Given the description of an element on the screen output the (x, y) to click on. 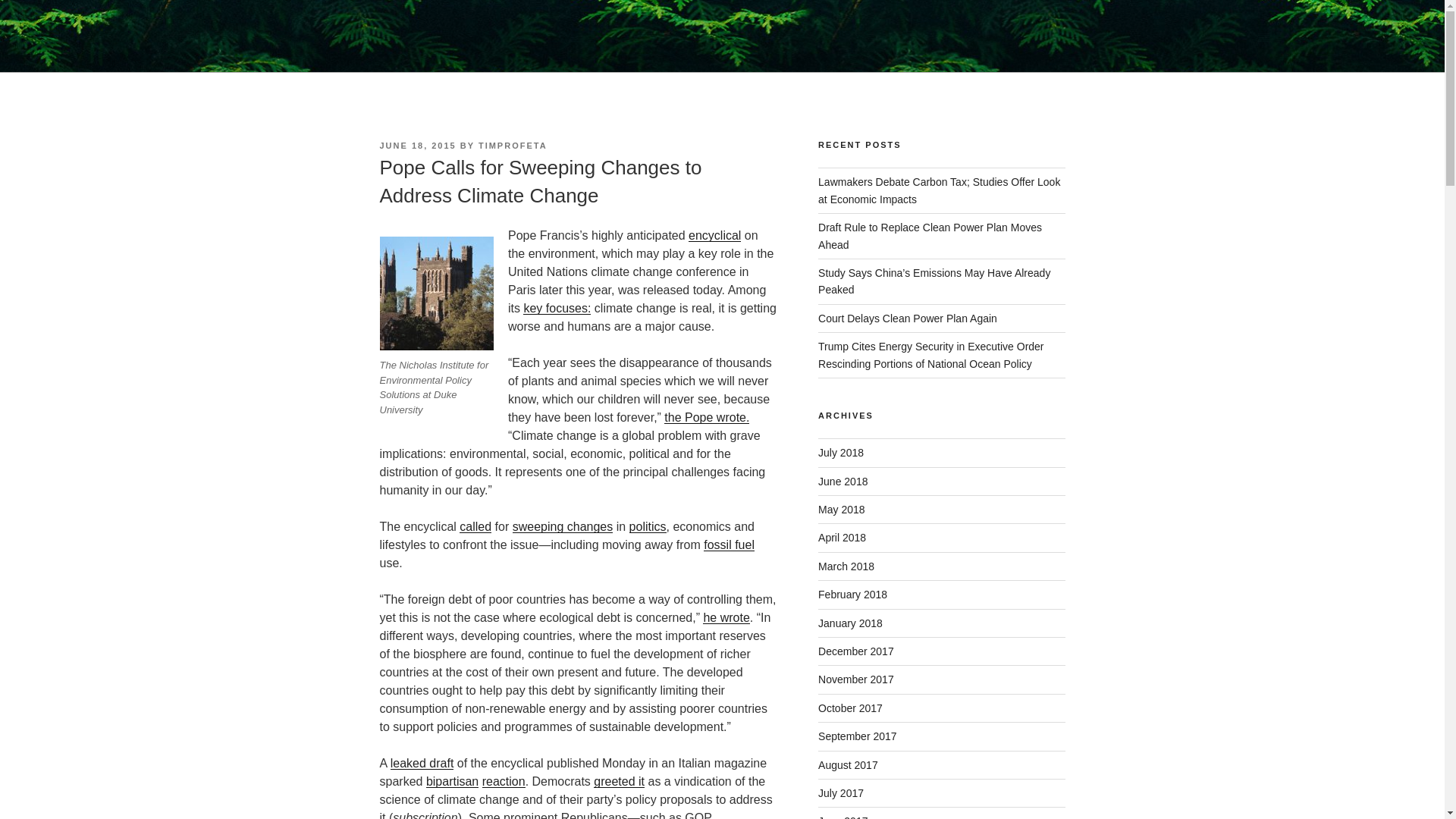
bipartisan (452, 780)
the Pope wrote. (706, 417)
politics (647, 526)
THE CLIMATE POST (527, 52)
greeted it (619, 780)
reaction (503, 780)
leaked draft (422, 762)
TIMPROFETA (513, 144)
JUNE 18, 2015 (416, 144)
sweeping changes (562, 526)
